Given the description of an element on the screen output the (x, y) to click on. 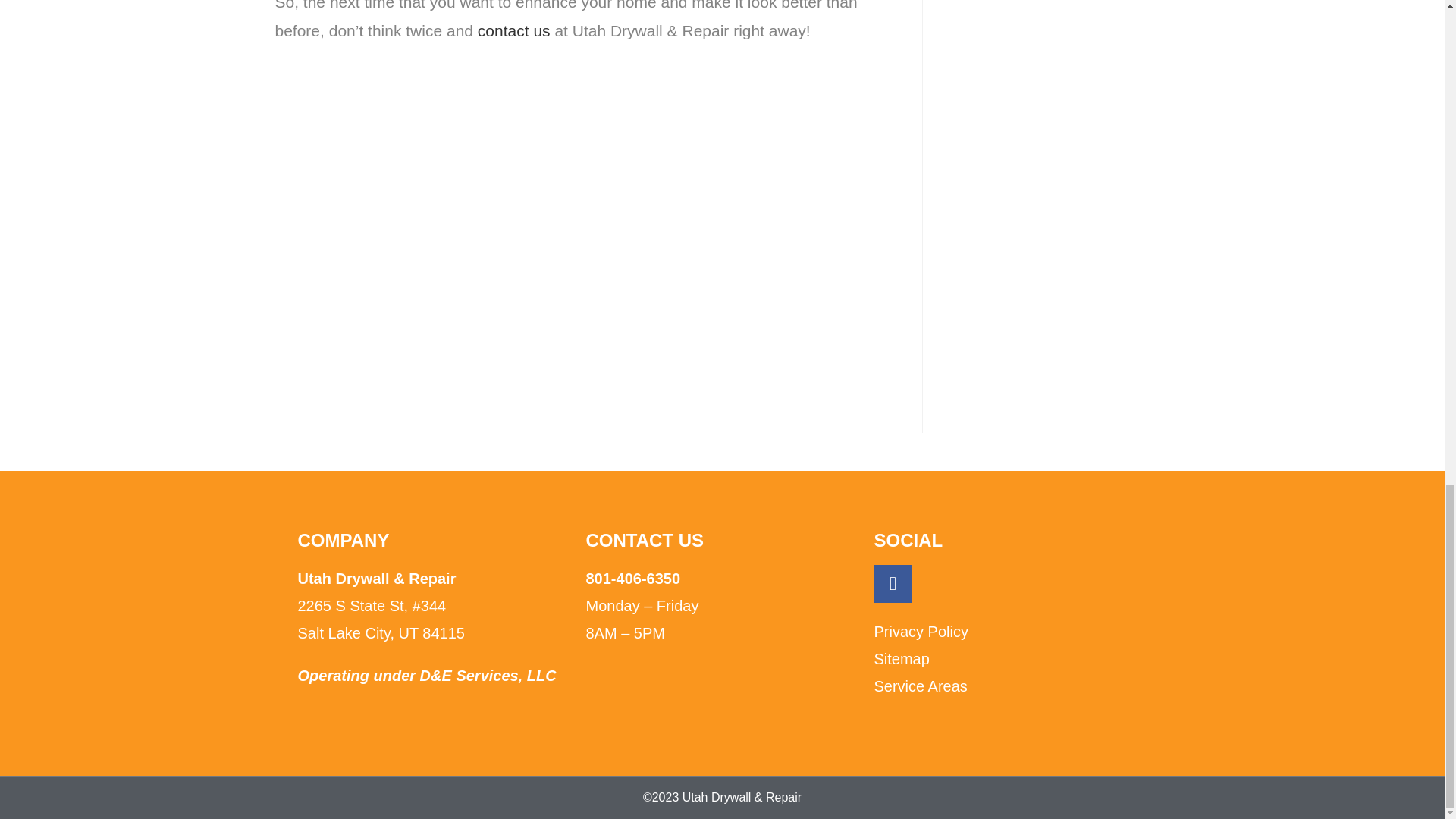
contact us (513, 30)
801-406-6350 (632, 578)
